Given the description of an element on the screen output the (x, y) to click on. 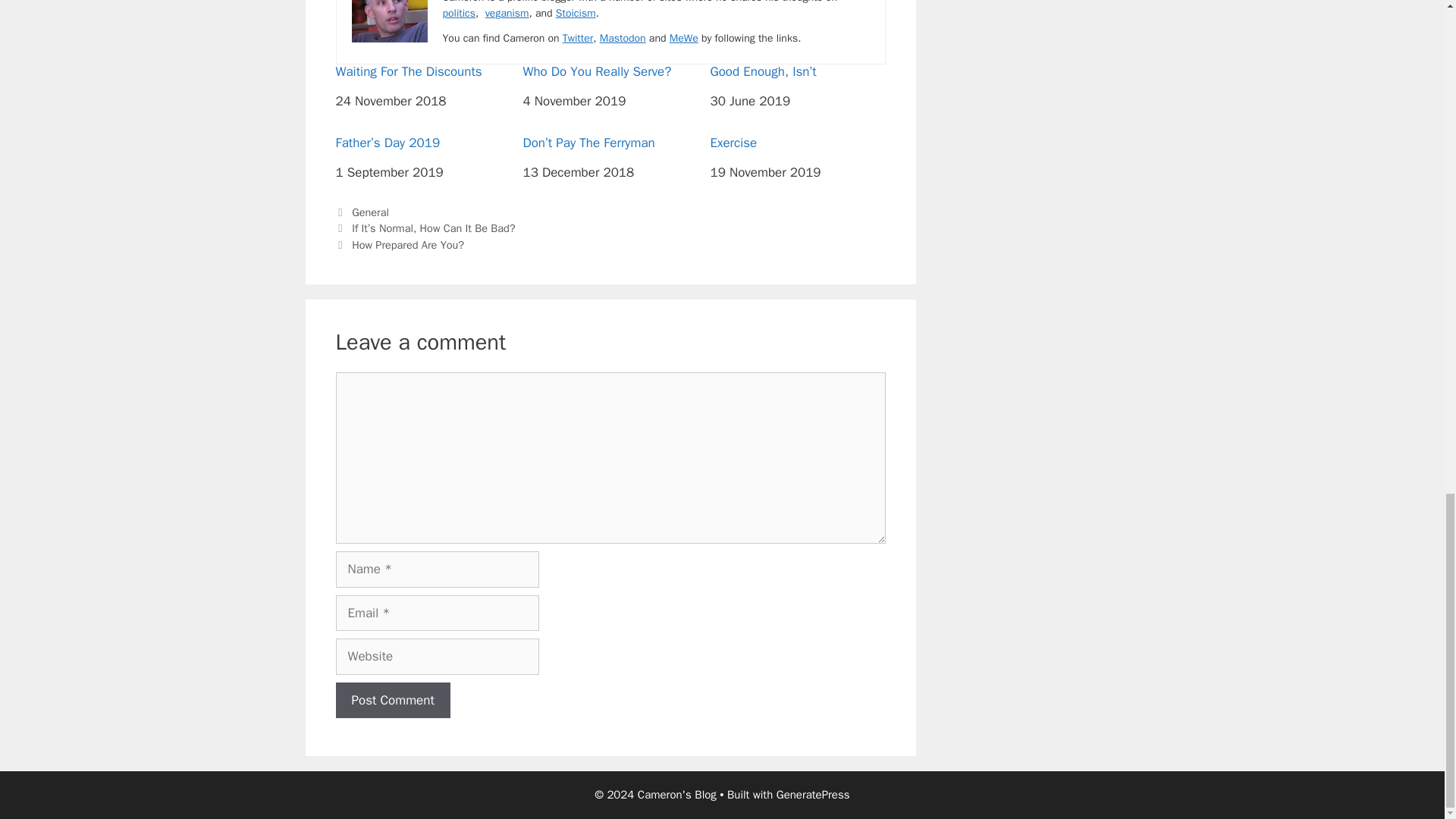
Mastodon (622, 38)
Twitter (578, 38)
Exercise (797, 142)
MeWe (683, 38)
Post Comment (391, 700)
Who Do You Really Serve? (609, 71)
How Prepared Are You? (408, 244)
Stoicism (575, 12)
politics (459, 12)
General (370, 212)
Waiting For The Discounts (422, 71)
veganism (506, 12)
GeneratePress (813, 794)
Post Comment (391, 700)
